Given the description of an element on the screen output the (x, y) to click on. 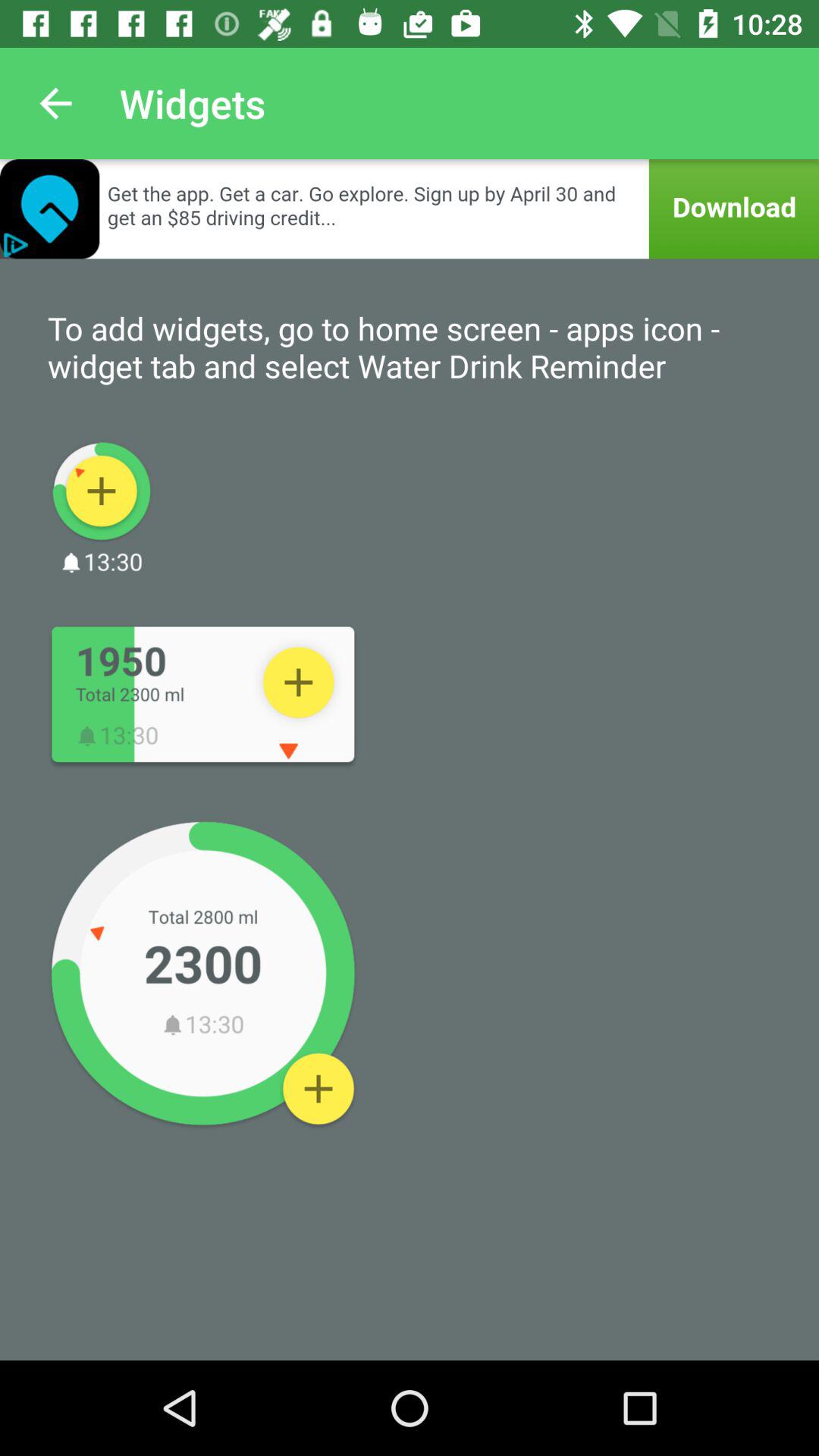
press the item above the to add widgets item (409, 208)
